Given the description of an element on the screen output the (x, y) to click on. 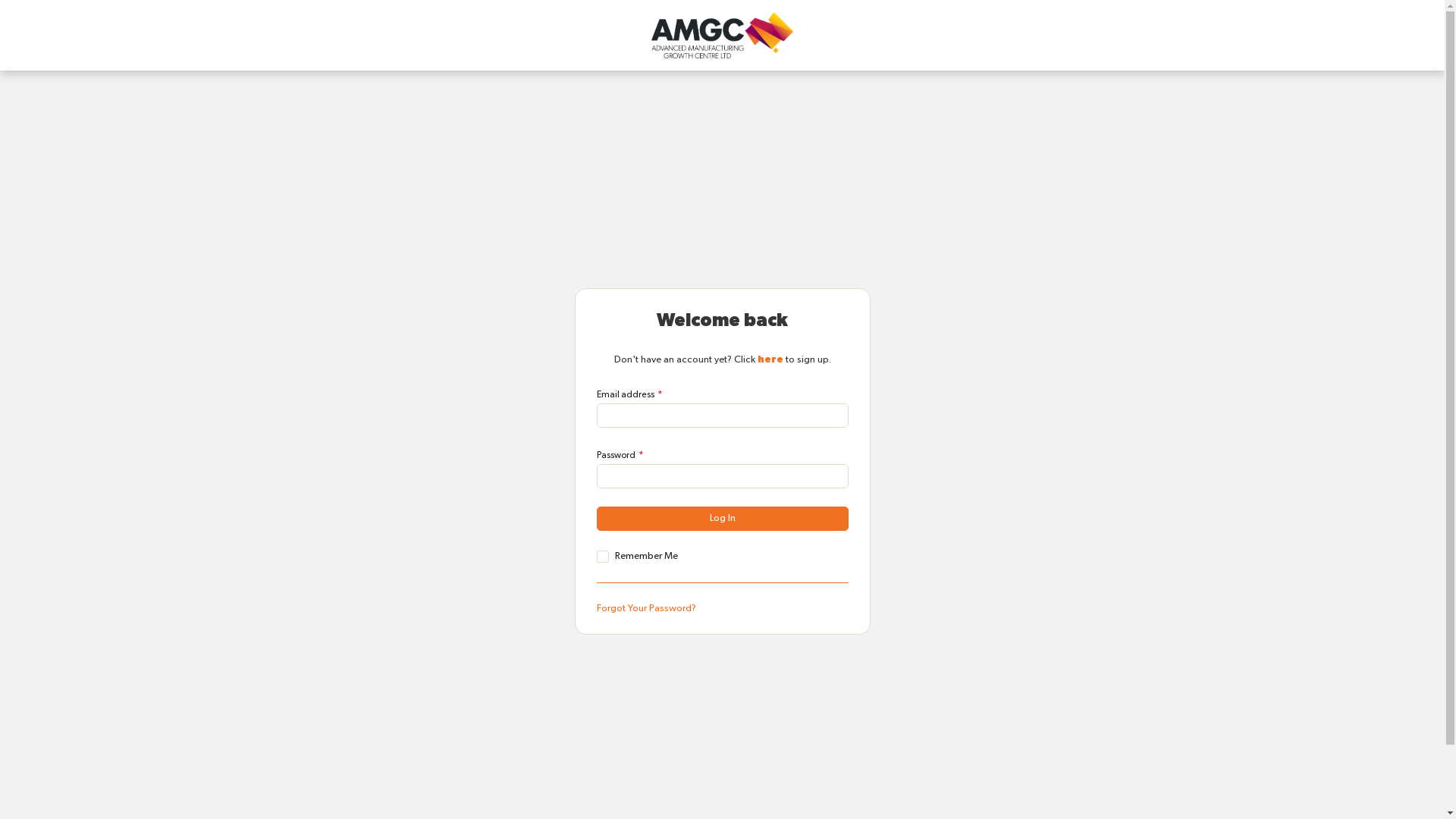
here Element type: text (769, 359)
Log In Element type: text (721, 518)
Forgot Your Password? Element type: text (645, 608)
